Given the description of an element on the screen output the (x, y) to click on. 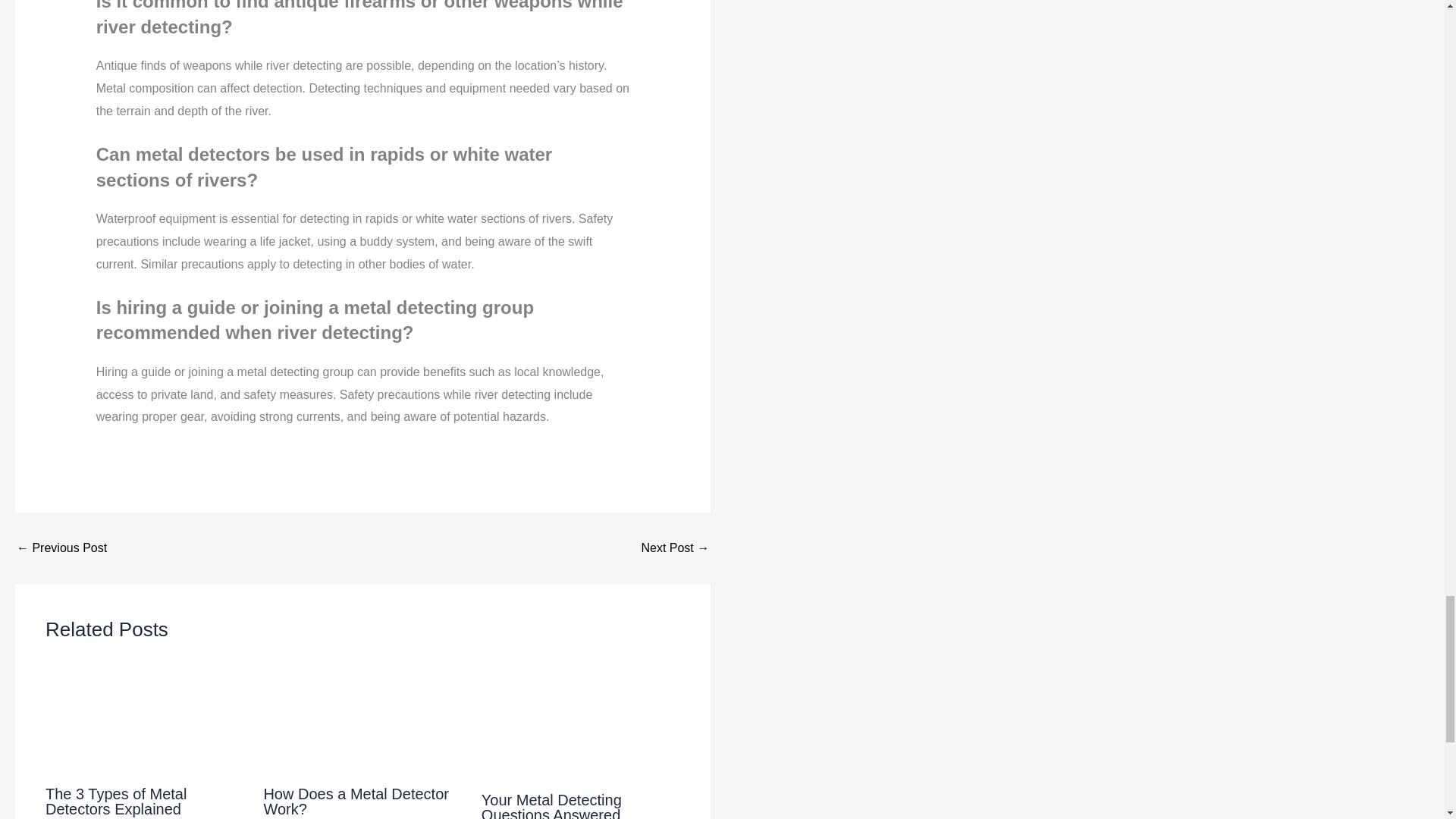
Reliable Metal Detectors For Beginners (674, 548)
Saving The Seas: The Good And Bad Of Magnet Fishing (61, 548)
